Given the description of an element on the screen output the (x, y) to click on. 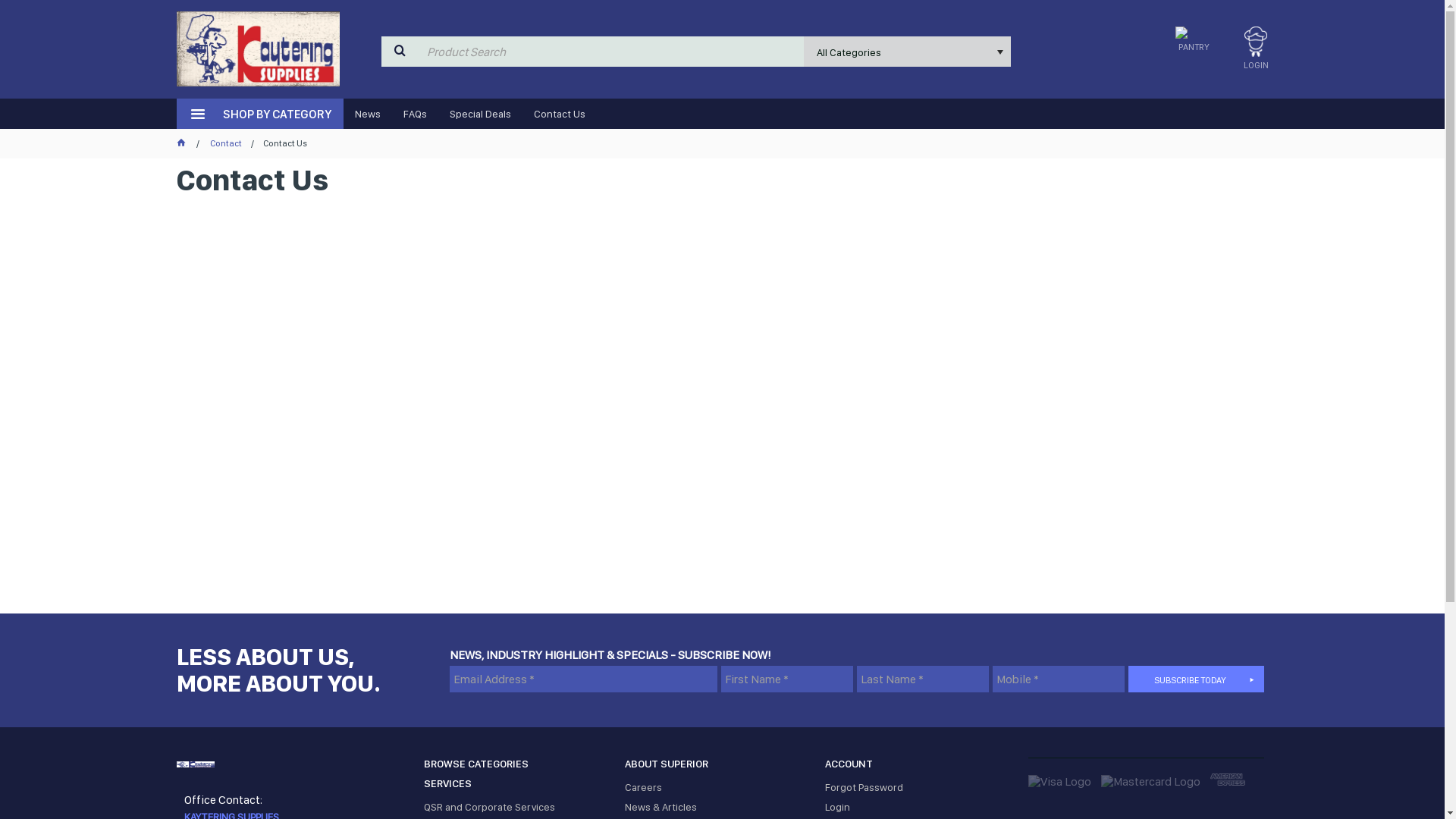
Login Element type: text (917, 806)
Forgot Password Element type: text (917, 787)
PANTRY Element type: text (1194, 41)
Careers Element type: text (716, 787)
News & Articles Element type: text (716, 806)
LOGIN Element type: text (1255, 52)
FAQs Element type: text (414, 113)
SUBSCRIBE TODAY Element type: text (1196, 678)
Contact Us Element type: text (558, 113)
ABOUT SUPERIOR Element type: text (716, 767)
News Element type: text (366, 113)
Contact Element type: text (225, 143)
QSR and Corporate Services Element type: text (515, 806)
Special Deals Element type: text (480, 113)
